Given the description of an element on the screen output the (x, y) to click on. 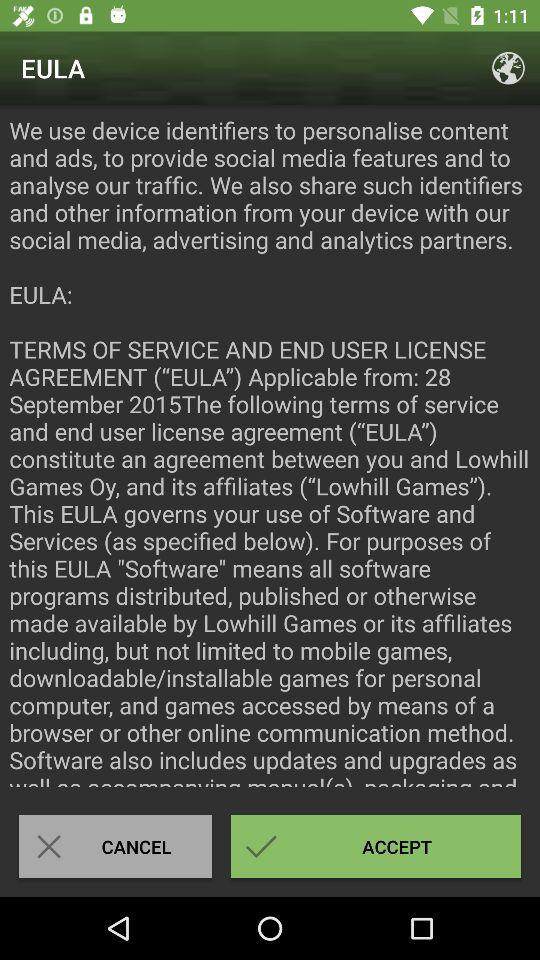
turn on item to the left of accept (115, 846)
